Given the description of an element on the screen output the (x, y) to click on. 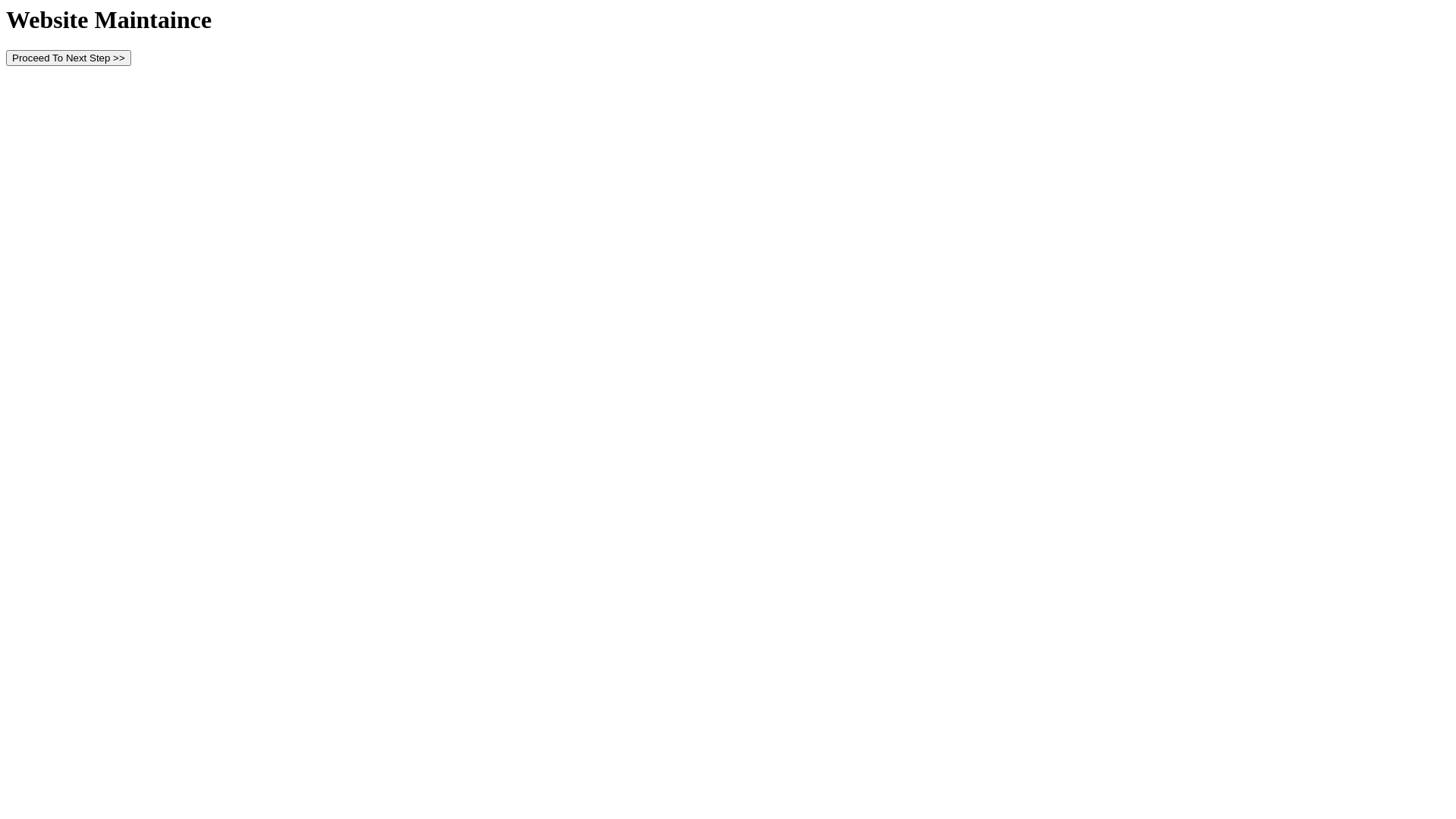
Proceed To Next Step >> Element type: text (68, 57)
Website Maintaince Element type: text (108, 19)
